Given the description of an element on the screen output the (x, y) to click on. 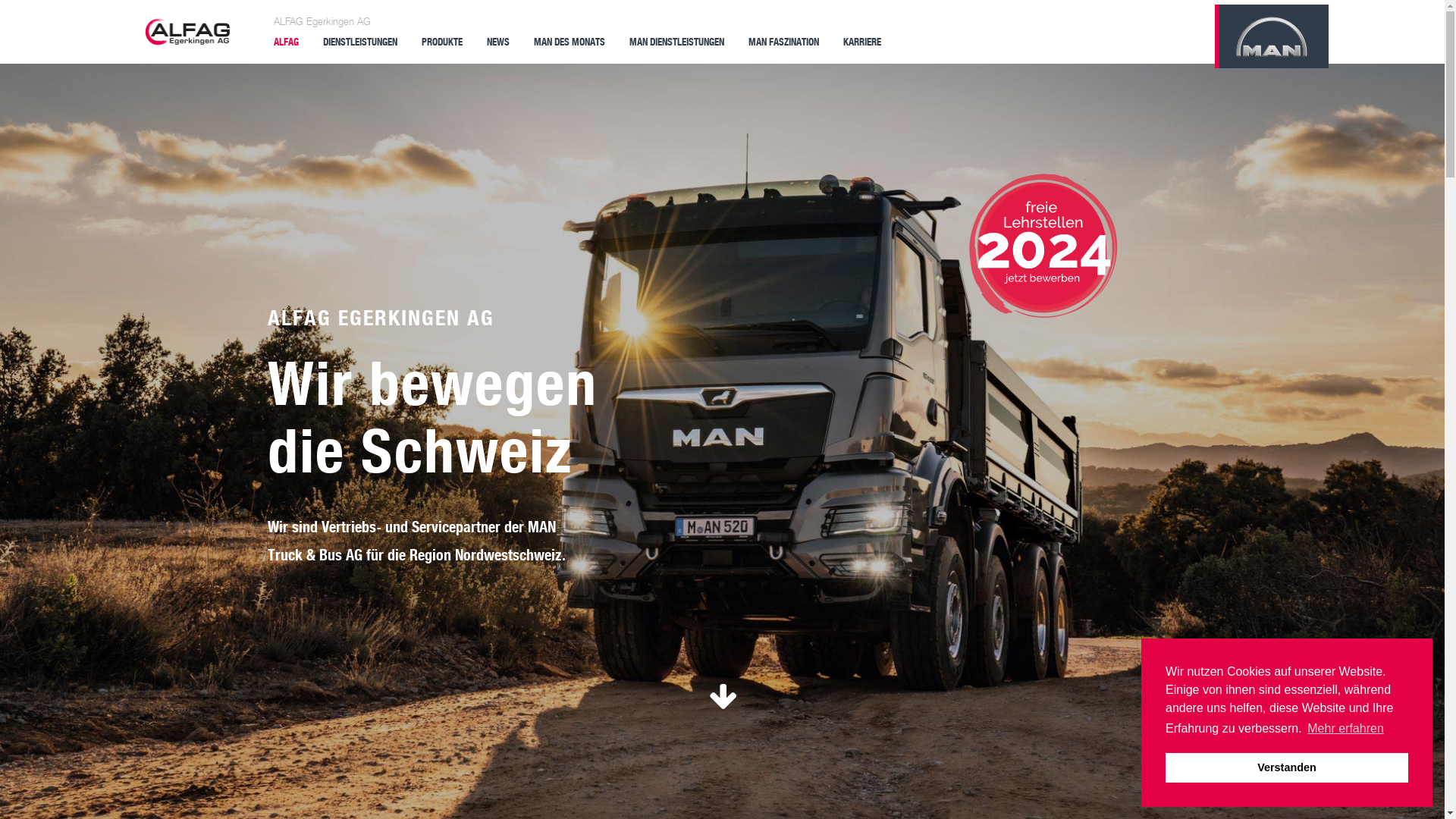
MAN FASZINATION Element type: text (783, 41)
ALFAG Element type: text (285, 41)
MAN DIENSTLEISTUNGEN Element type: text (676, 41)
KARRIERE Element type: text (862, 41)
PRODUKTE Element type: text (441, 41)
NEWS Element type: text (497, 41)
Mehr erfahren Element type: text (1345, 728)
MAN DES MONATS Element type: text (569, 41)
DIENSTLEISTUNGEN Element type: text (359, 41)
Verstanden Element type: text (1286, 767)
